Given the description of an element on the screen output the (x, y) to click on. 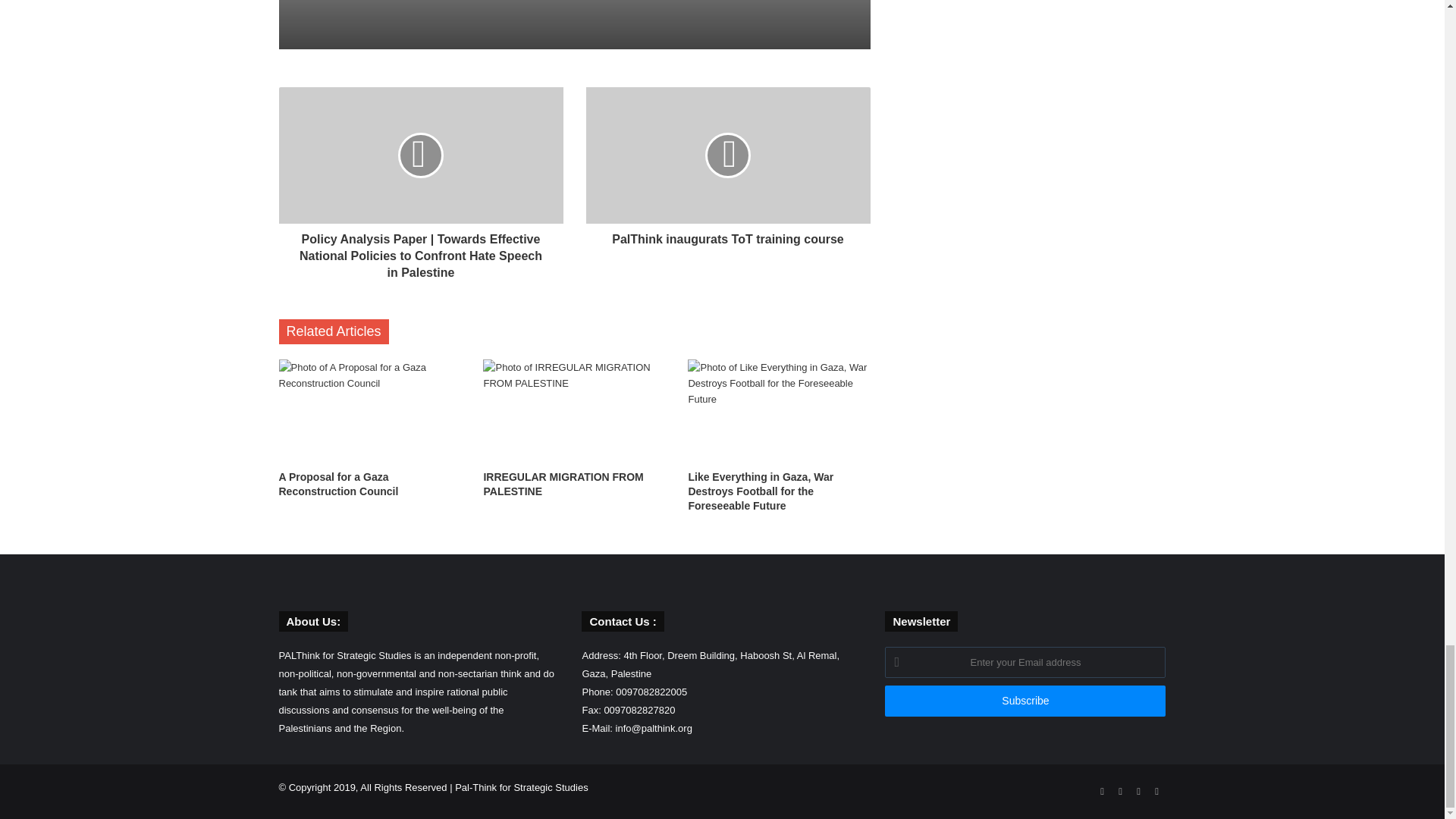
Subscribe (1025, 700)
